Given the description of an element on the screen output the (x, y) to click on. 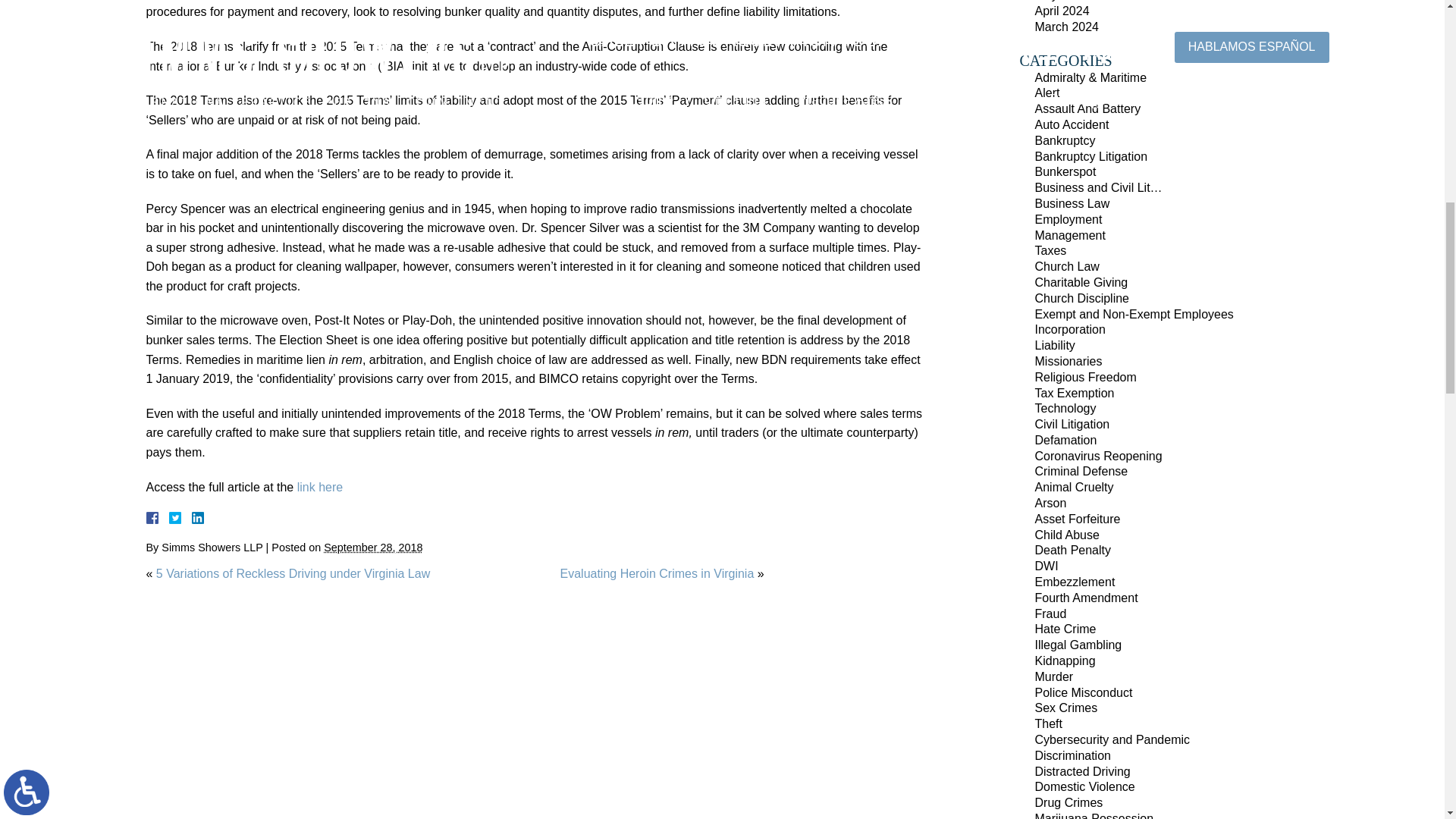
LinkedIn (191, 517)
Twitter (180, 517)
2018-09-28T16:00:00-0700 (372, 547)
Facebook (169, 517)
